Given the description of an element on the screen output the (x, y) to click on. 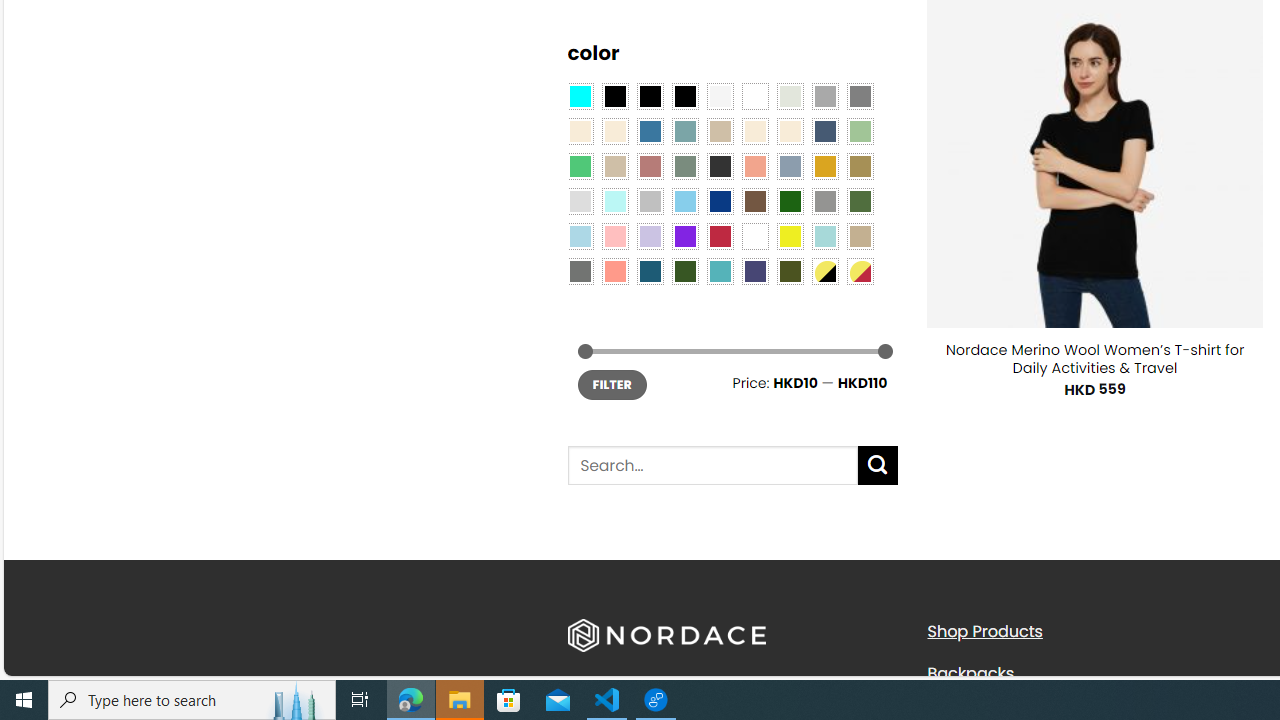
Aqua (824, 236)
Pink (614, 236)
Yellow (789, 236)
Teal (719, 270)
Coral (755, 165)
Charcoal (719, 165)
All Black (614, 95)
Kelp (859, 165)
Army Green (789, 270)
Dark Green (789, 200)
Purple Navy (755, 270)
Sky Blue (684, 200)
Brown (755, 200)
Backpacks (970, 672)
